Given the description of an element on the screen output the (x, y) to click on. 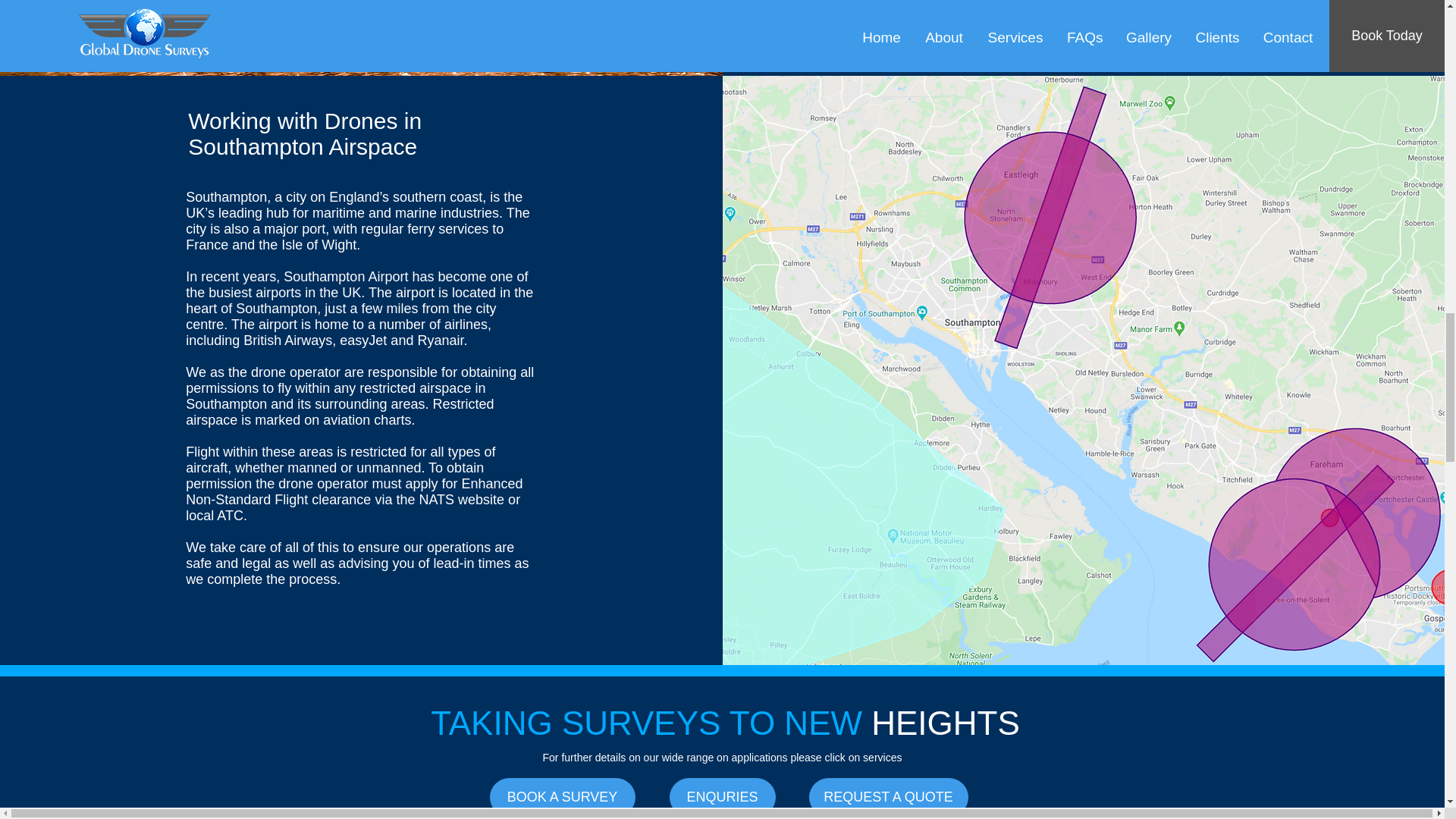
ENQURIES (721, 797)
BOOK A SURVEY (561, 797)
REQUEST A QUOTE (888, 797)
